Given the description of an element on the screen output the (x, y) to click on. 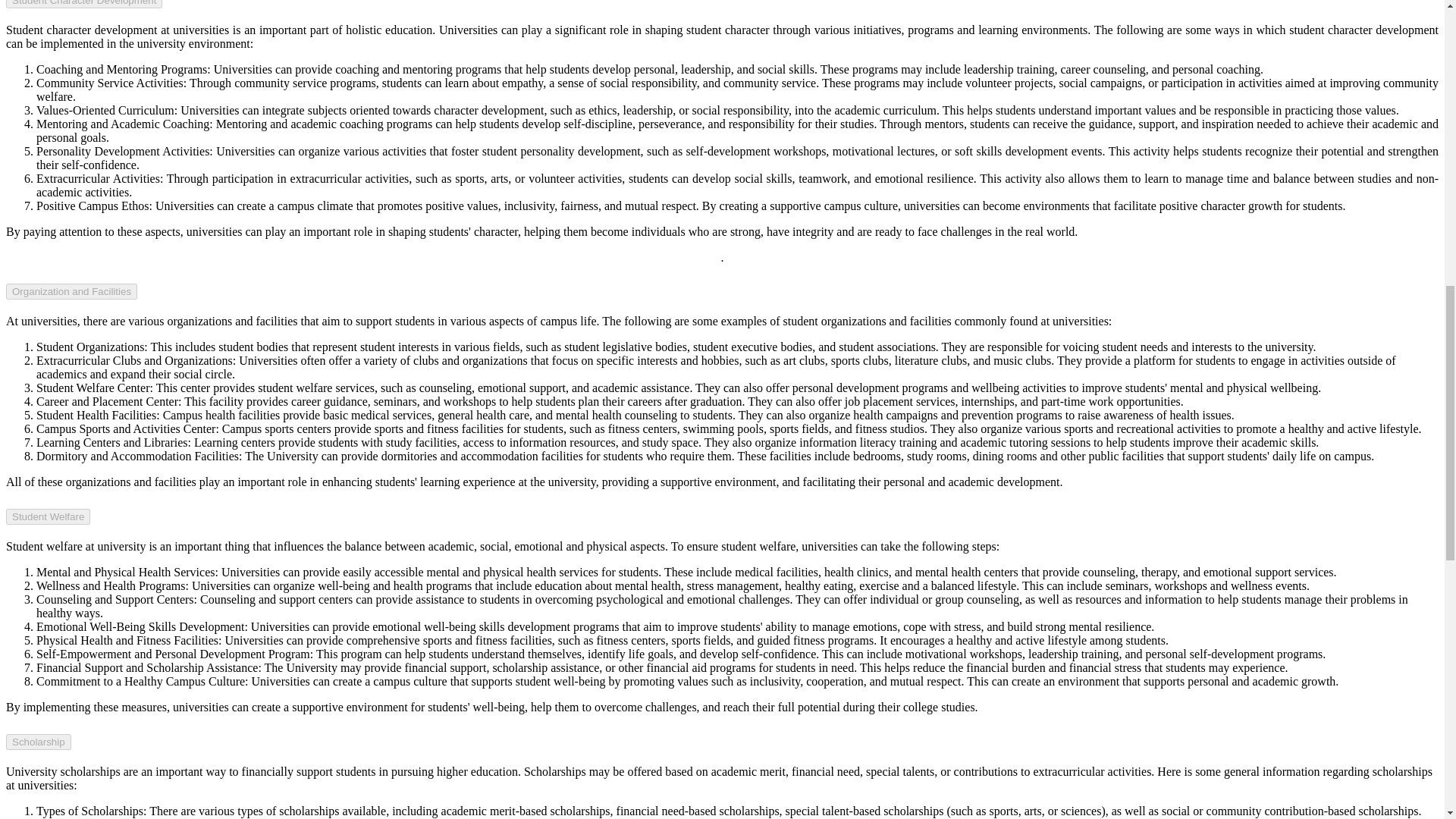
Organization and Facilities (70, 291)
Scholarship (38, 741)
Student Character Development (83, 4)
Student Welfare (47, 516)
